Given the description of an element on the screen output the (x, y) to click on. 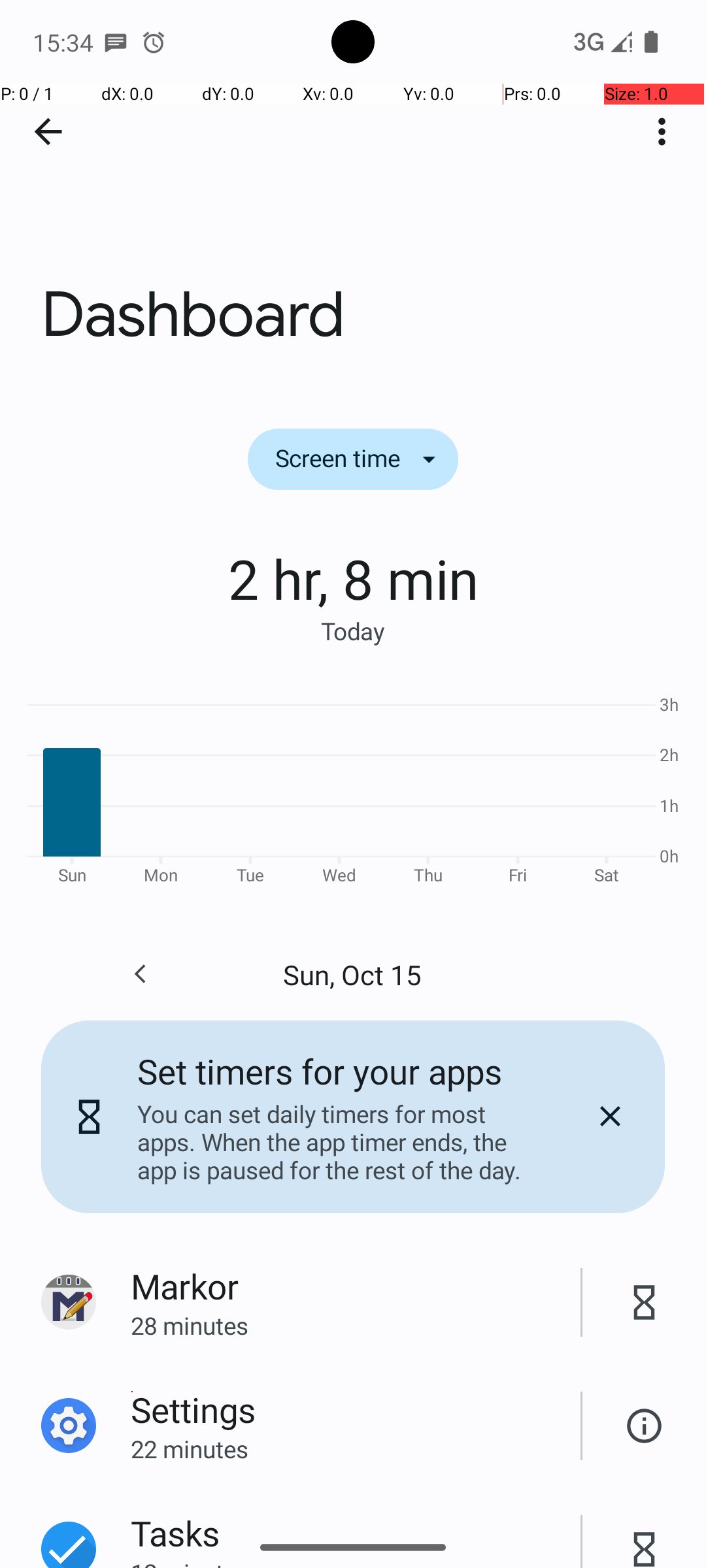
Dashboard Element type: android.widget.FrameLayout (353, 195)
2 hr, 8 min Element type: android.widget.TextView (353, 577)
Set timers for your apps Element type: android.widget.TextView (319, 1070)
You can set daily timers for most apps. When the app timer ends, the app is paused for the rest of the day. Element type: android.widget.TextView (339, 1141)
Dismiss card Element type: android.widget.Button (609, 1116)
28 minutes Element type: android.widget.TextView (355, 1325)
No timer set for Markor Element type: android.widget.FrameLayout (644, 1302)
22 minutes Element type: android.widget.TextView (355, 1448)
Can't set timer Element type: android.widget.FrameLayout (644, 1425)
12 minutes Element type: android.widget.TextView (355, 1562)
No timer set for Tasks Element type: android.widget.FrameLayout (644, 1534)
Bar Chart. Showing Phone usage data with 7 data points. Element type: android.view.ViewGroup (353, 787)
